Given the description of an element on the screen output the (x, y) to click on. 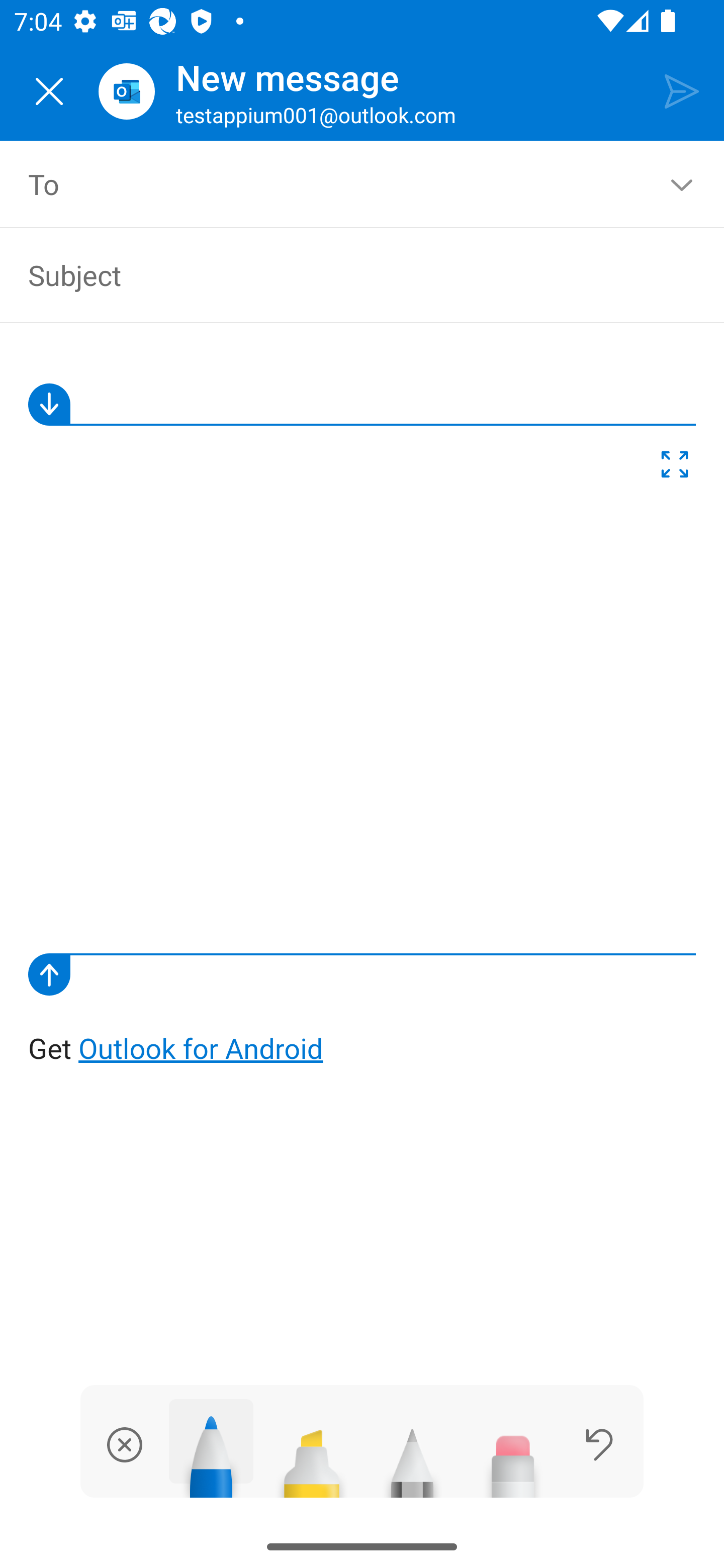
Close (49, 91)
Send (681, 90)
Subject (347, 274)


Get Outlook for Android (363, 707)
Canvas upper bound (362, 404)
Expand Drawing (674, 467)
Canvas Lower Bound (362, 974)
Pen tool (210, 1447)
dismiss ink and save drawing (124, 1444)
Undo last stroke (598, 1444)
Highlighter tool (311, 1455)
Pencil tool (411, 1455)
Eraser tool (512, 1455)
